Given the description of an element on the screen output the (x, y) to click on. 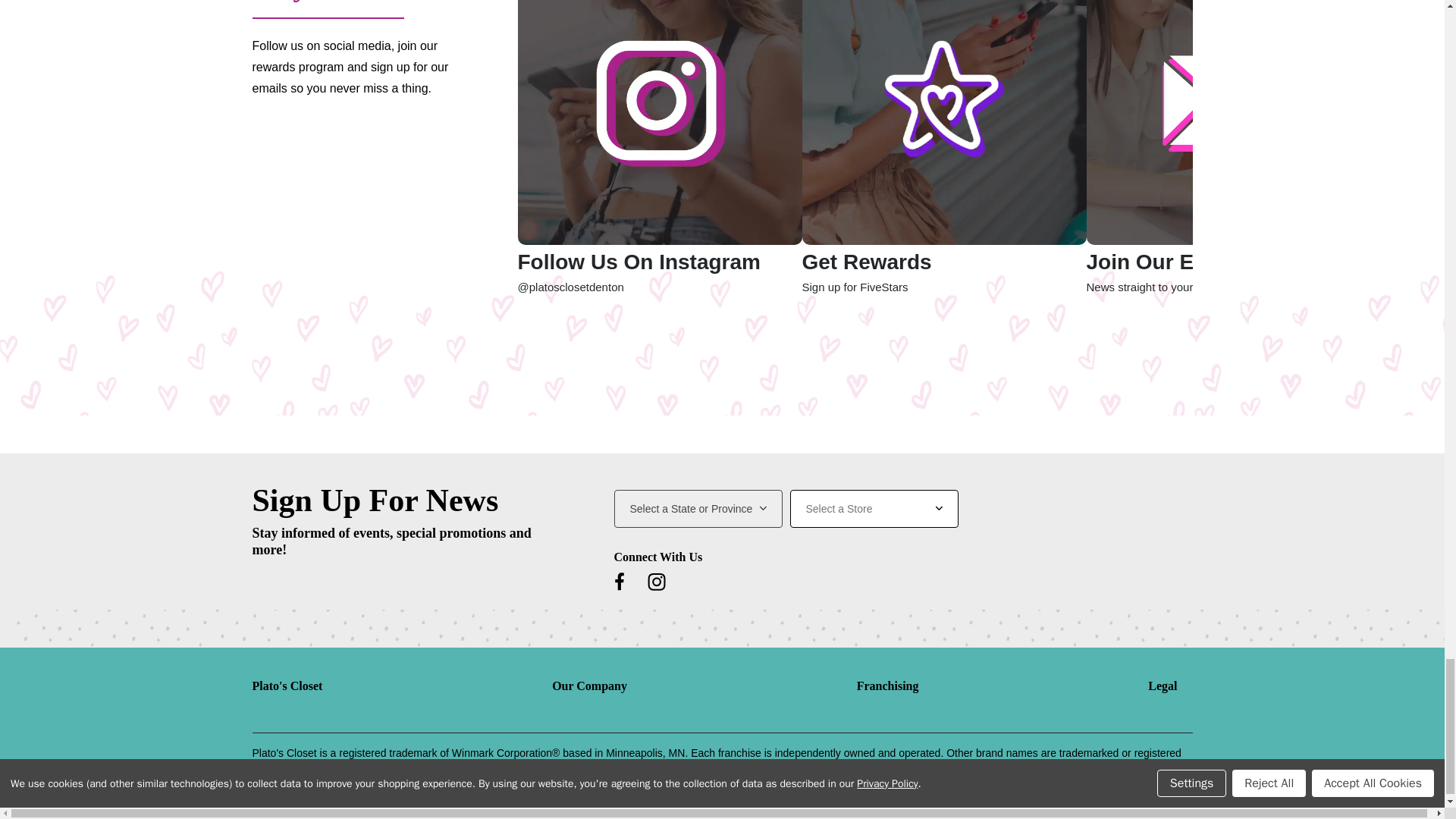
instagram (656, 581)
facebook (618, 581)
